Given the description of an element on the screen output the (x, y) to click on. 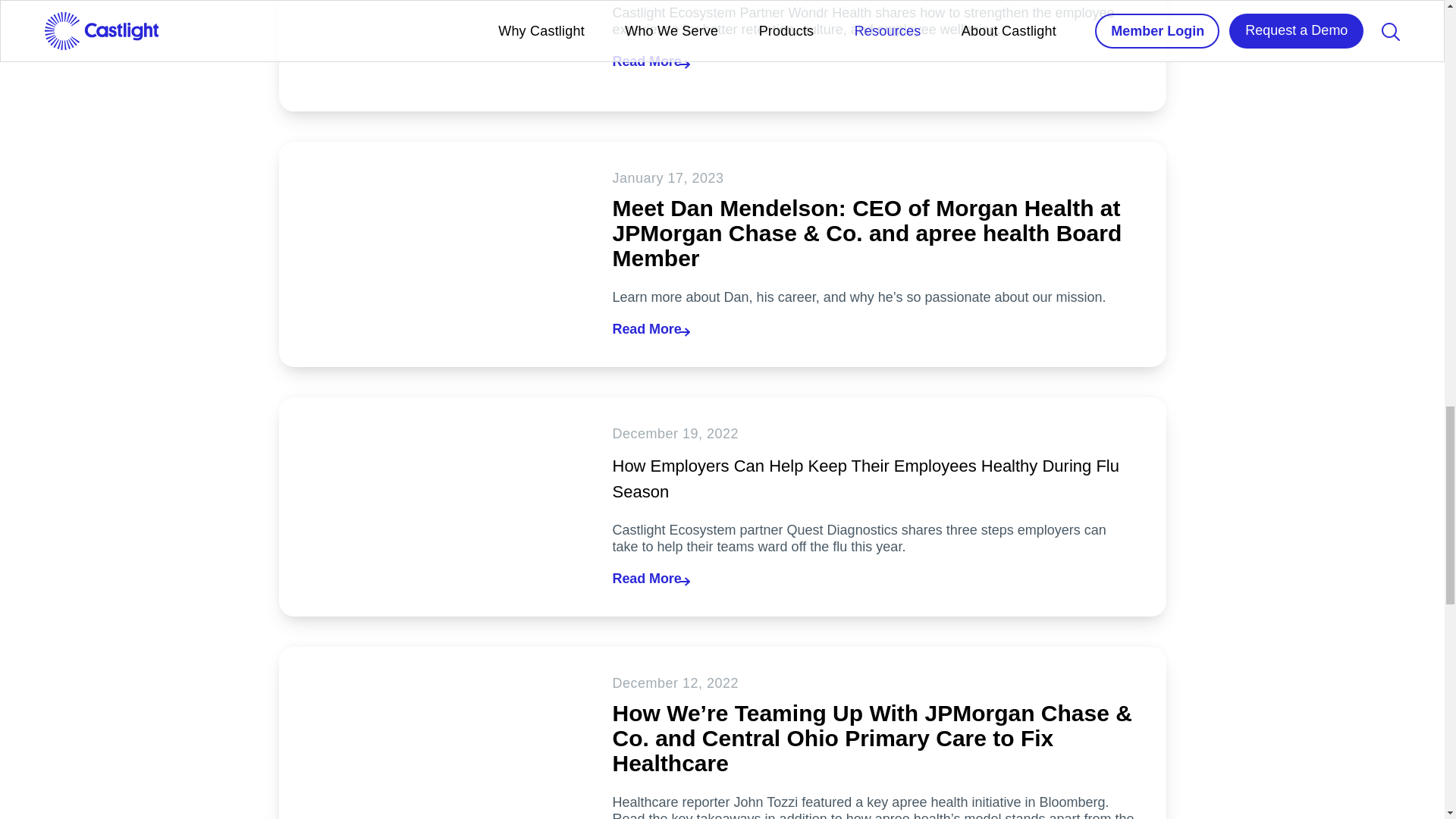
Doctor sharing good test results with patient (430, 733)
